Given the description of an element on the screen output the (x, y) to click on. 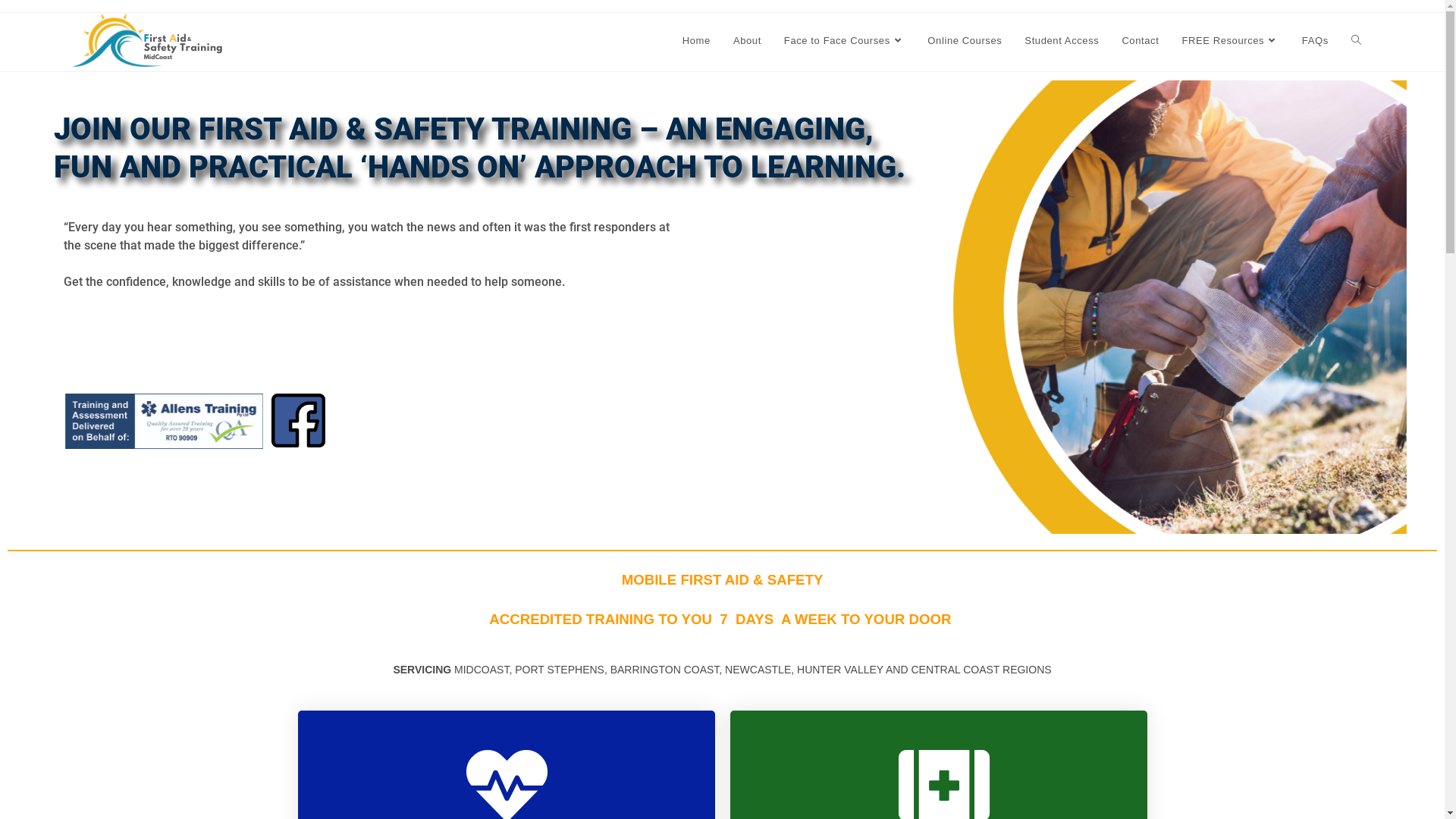
Contact Element type: text (1140, 40)
FAQs Element type: text (1314, 40)
Home Element type: text (696, 40)
About Element type: text (746, 40)
Student Access Element type: text (1061, 40)
Online Courses Element type: text (964, 40)
FREE Resources Element type: text (1229, 40)
Face to Face Courses Element type: text (844, 40)
